Given the description of an element on the screen output the (x, y) to click on. 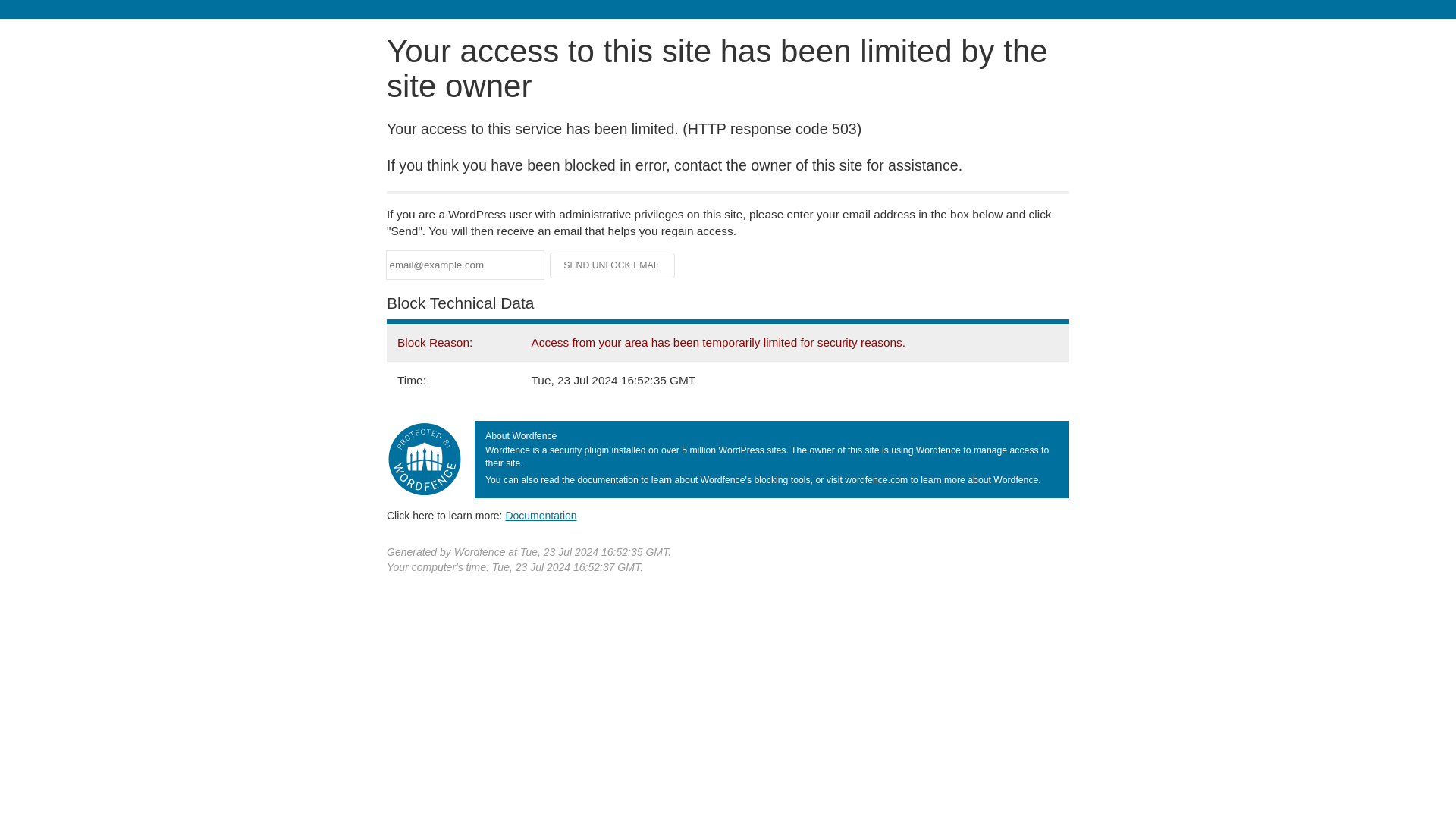
Send Unlock Email (612, 265)
Documentation (540, 515)
Send Unlock Email (612, 265)
